Given the description of an element on the screen output the (x, y) to click on. 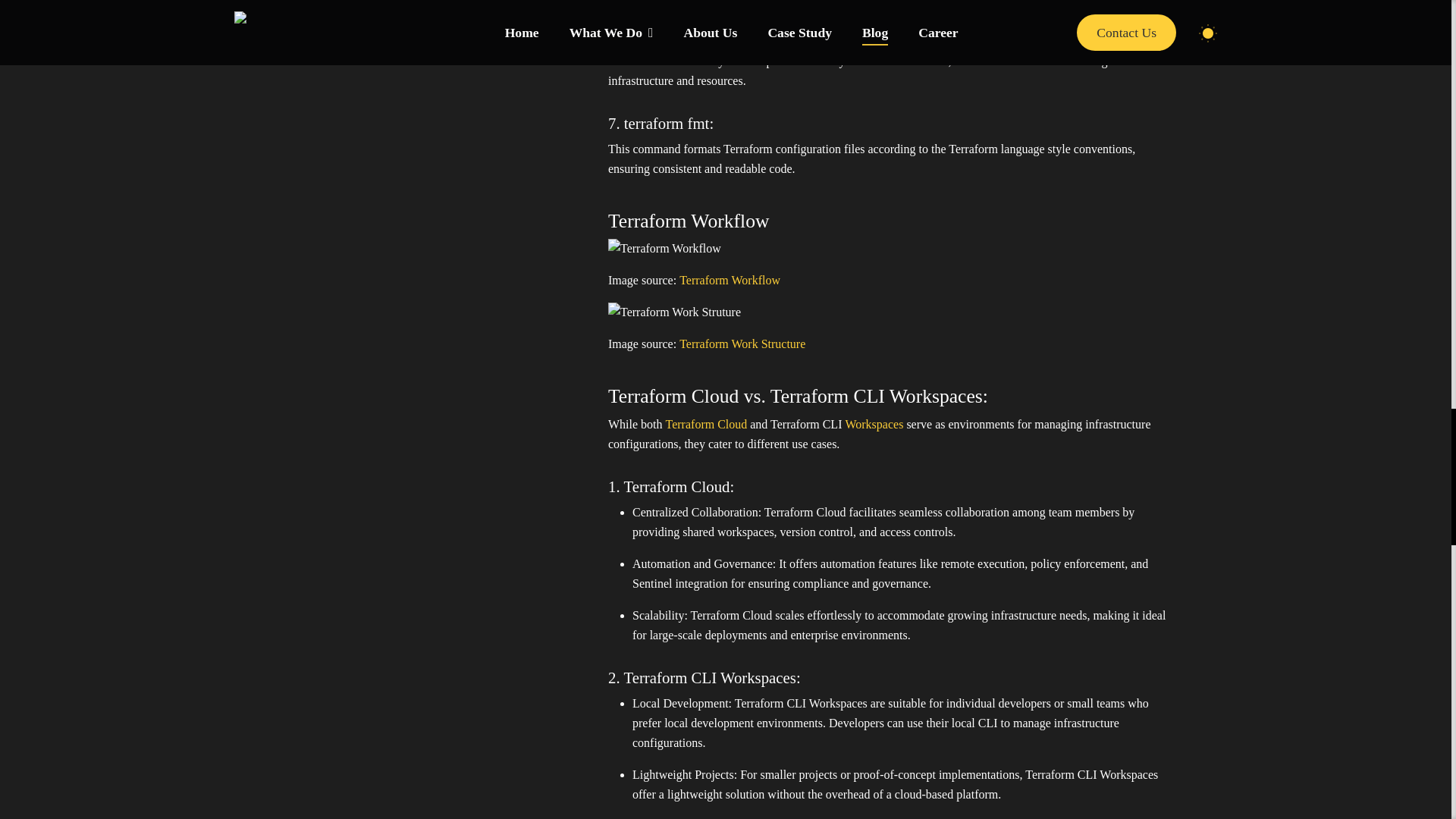
Terraform Workflow (729, 280)
Terraform Work Structure (742, 343)
